Given the description of an element on the screen output the (x, y) to click on. 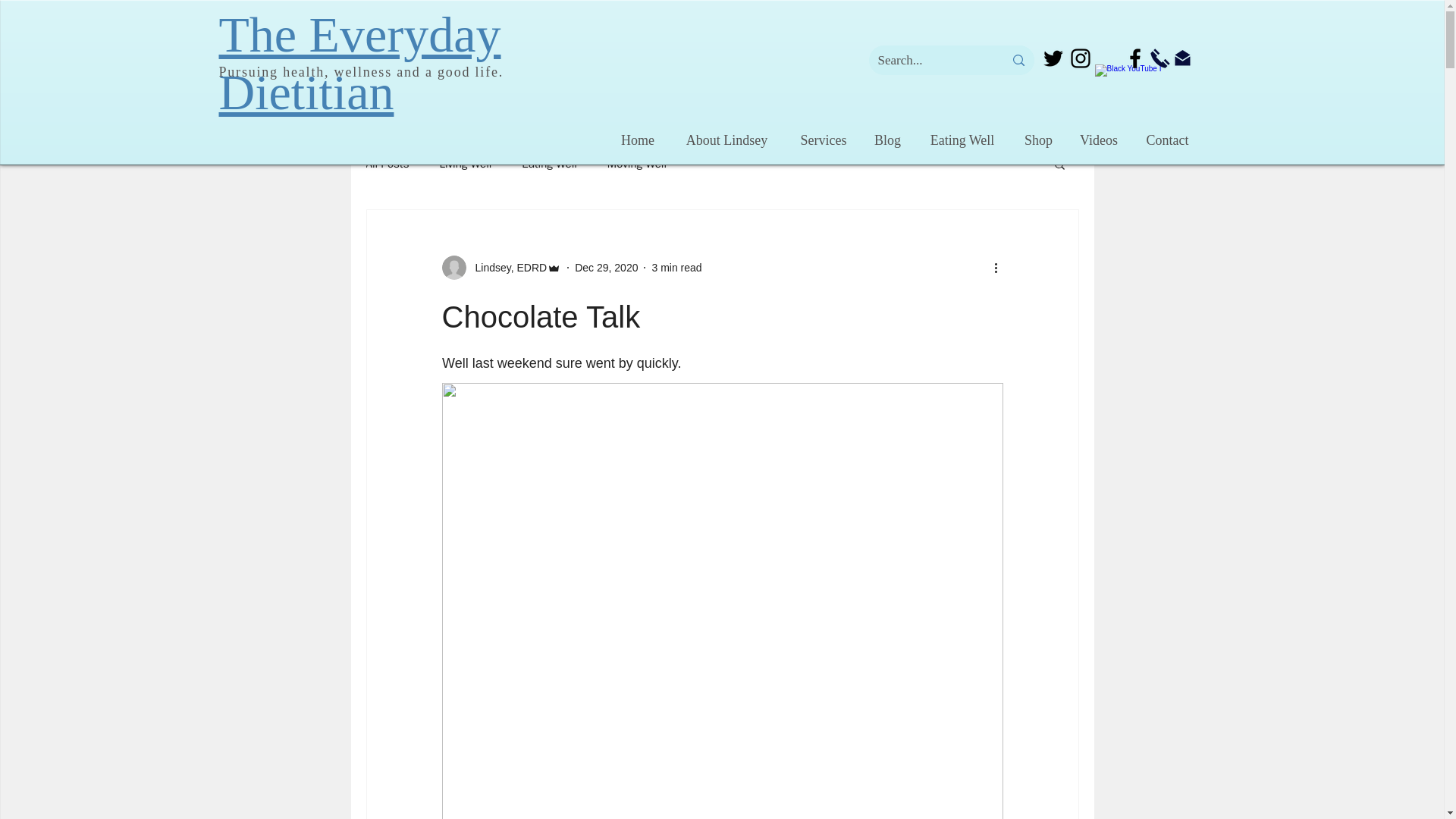
Eating Well (548, 163)
Shop (1038, 139)
3 min read (675, 266)
All Posts (387, 163)
Eating Well (961, 139)
Videos (1098, 139)
Dec 29, 2020 (606, 266)
The Everyday Dietitian (359, 62)
Services (823, 139)
Blog (886, 139)
Home (637, 139)
Living Well (465, 163)
Contact (1166, 139)
About Lindsey (727, 139)
Lindsey, EDRD (506, 267)
